Given the description of an element on the screen output the (x, y) to click on. 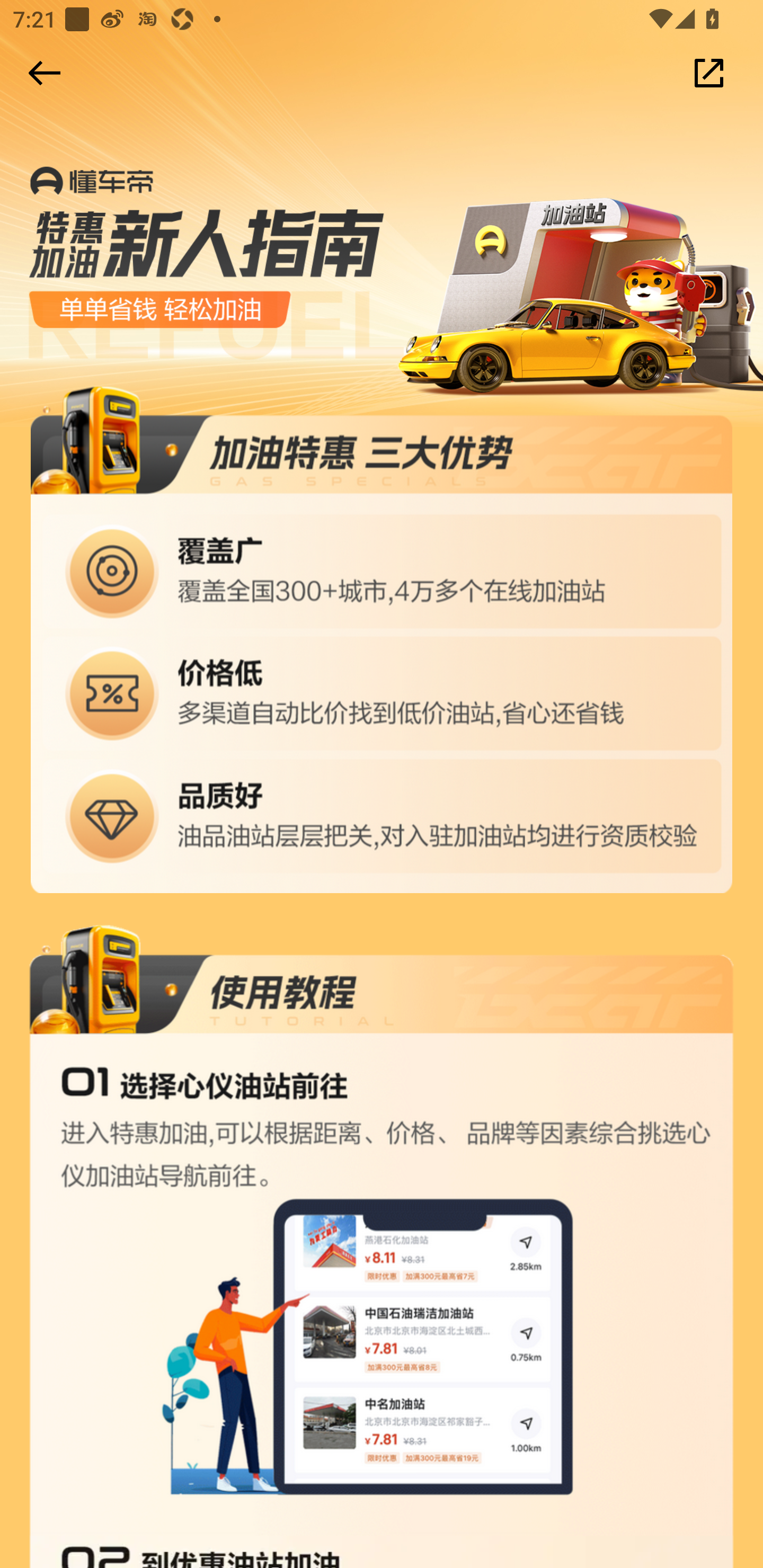
 (41, 72)
22e08cdc23a248d7a6d305313e2a23b1~690x0 (381, 639)
28d5ae37d49c4cdeabbe0b11ee1860a1~750x0 (381, 1229)
